Given the description of an element on the screen output the (x, y) to click on. 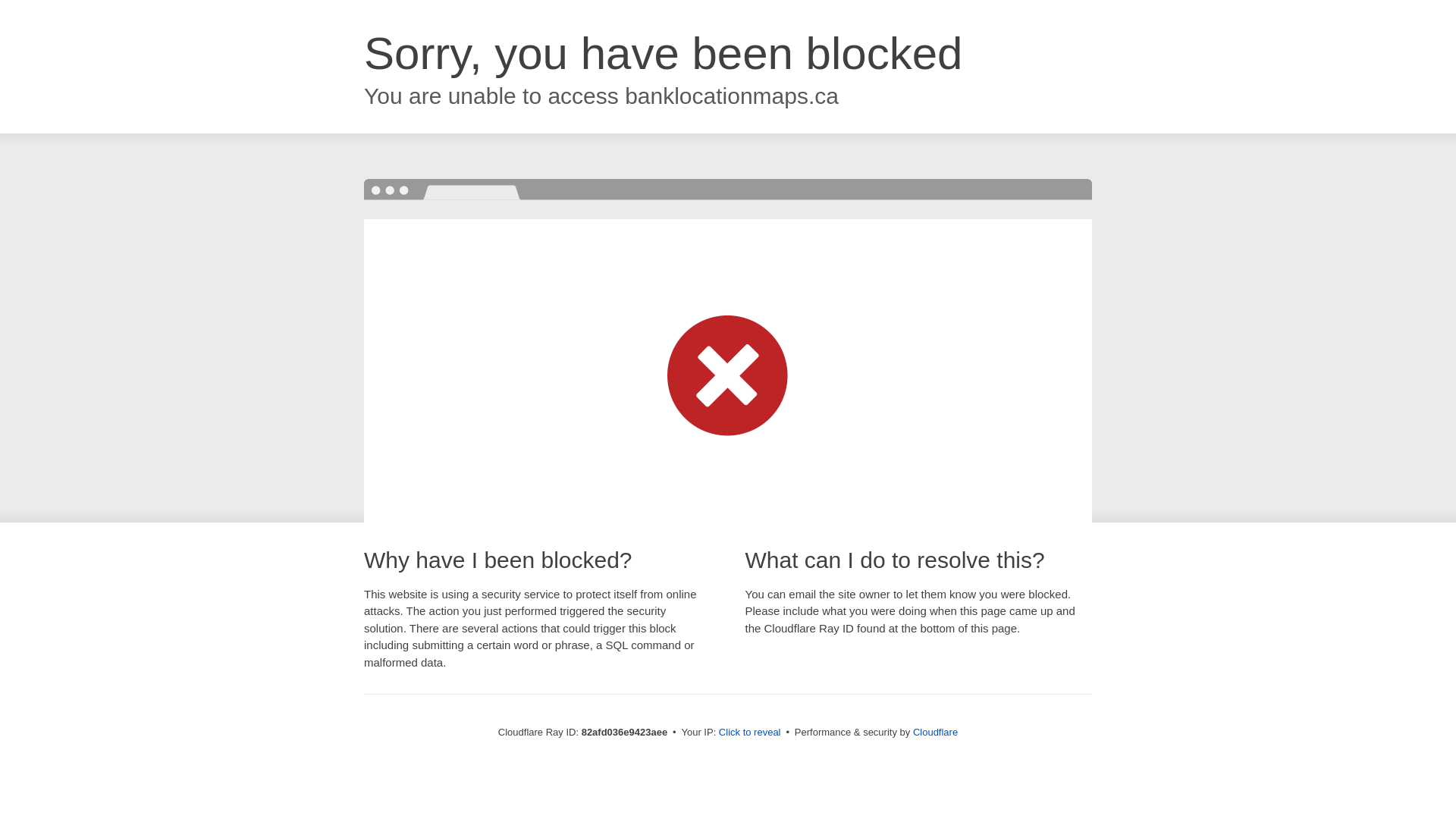
Cloudflare Element type: text (935, 731)
Click to reveal Element type: text (749, 732)
